Given the description of an element on the screen output the (x, y) to click on. 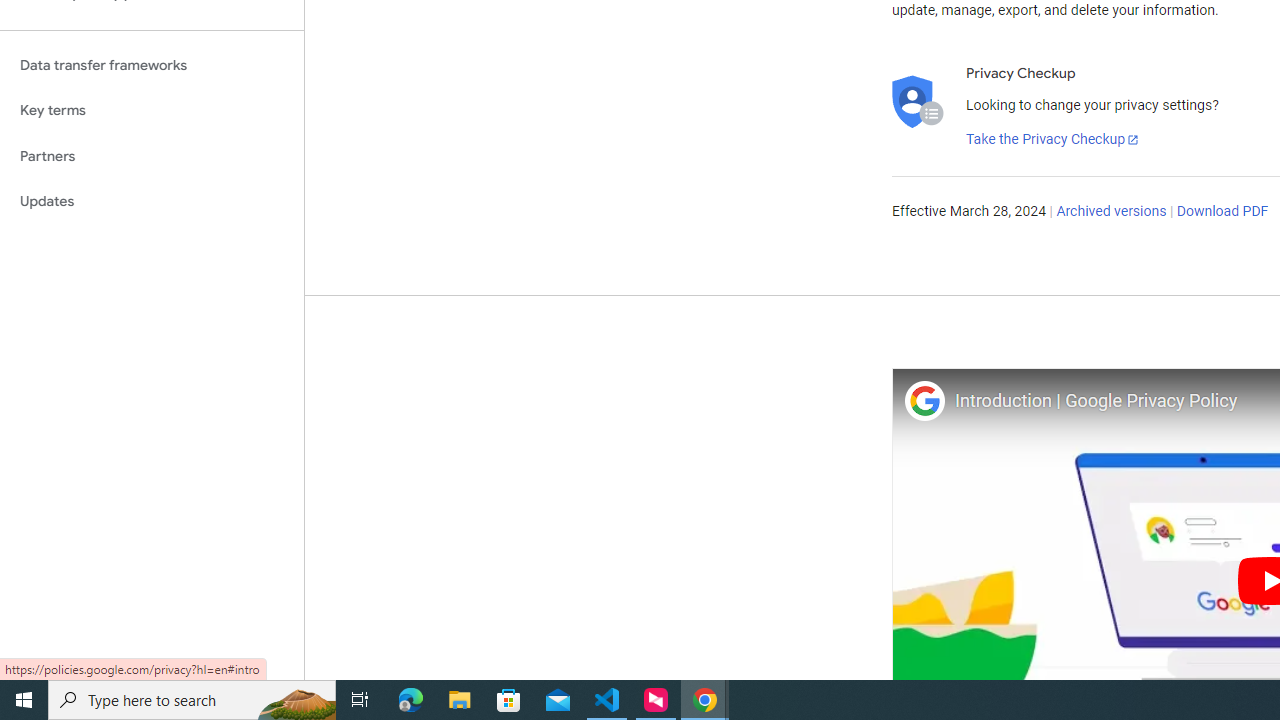
Data transfer frameworks (152, 65)
Partners (152, 156)
Photo image of Google (924, 400)
Download PDF (1222, 212)
Archived versions (1111, 212)
Key terms (152, 110)
Take the Privacy Checkup (1053, 140)
Updates (152, 201)
